Given the description of an element on the screen output the (x, y) to click on. 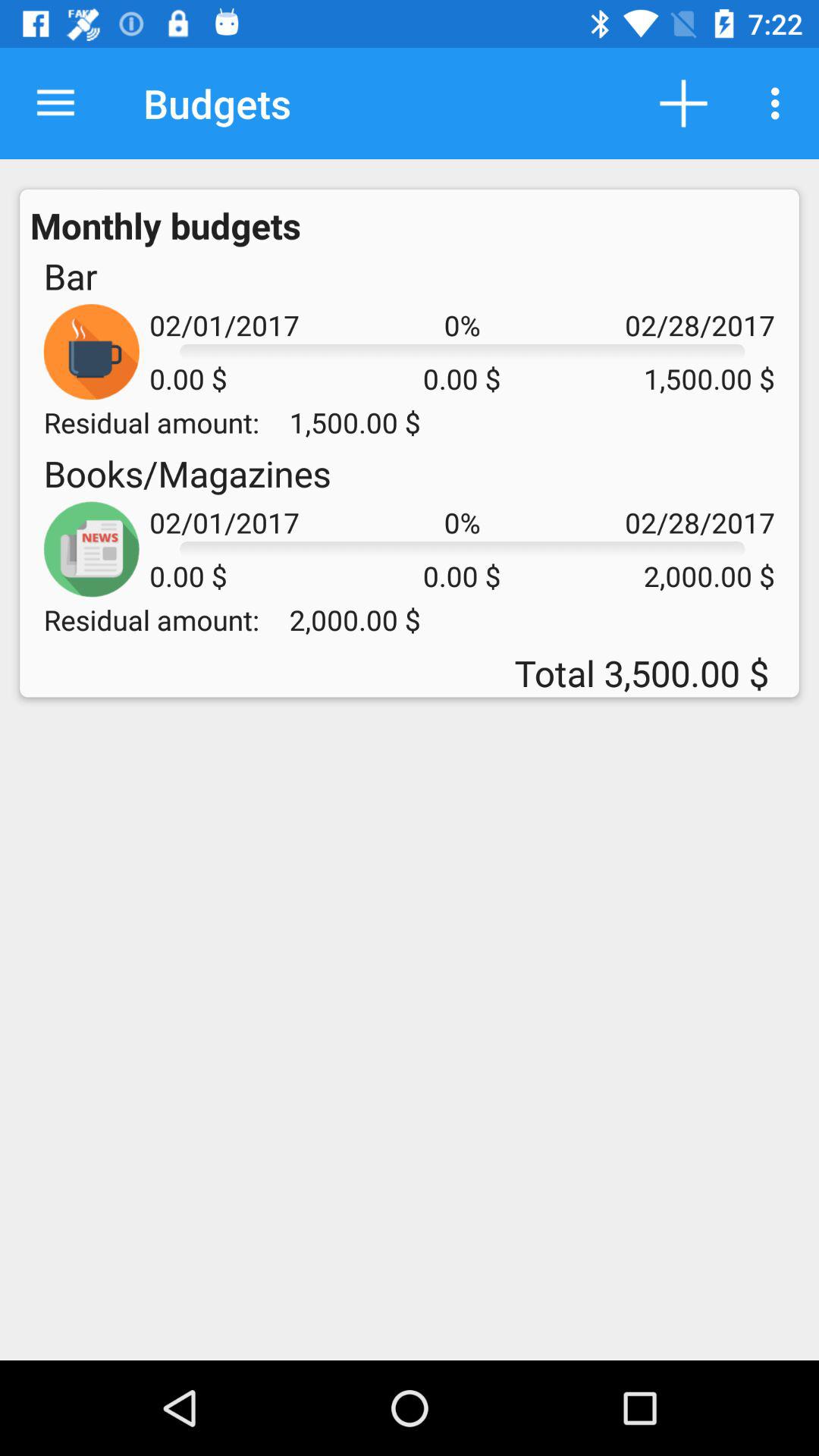
tap the icon to the left of the 0% (187, 473)
